Given the description of an element on the screen output the (x, y) to click on. 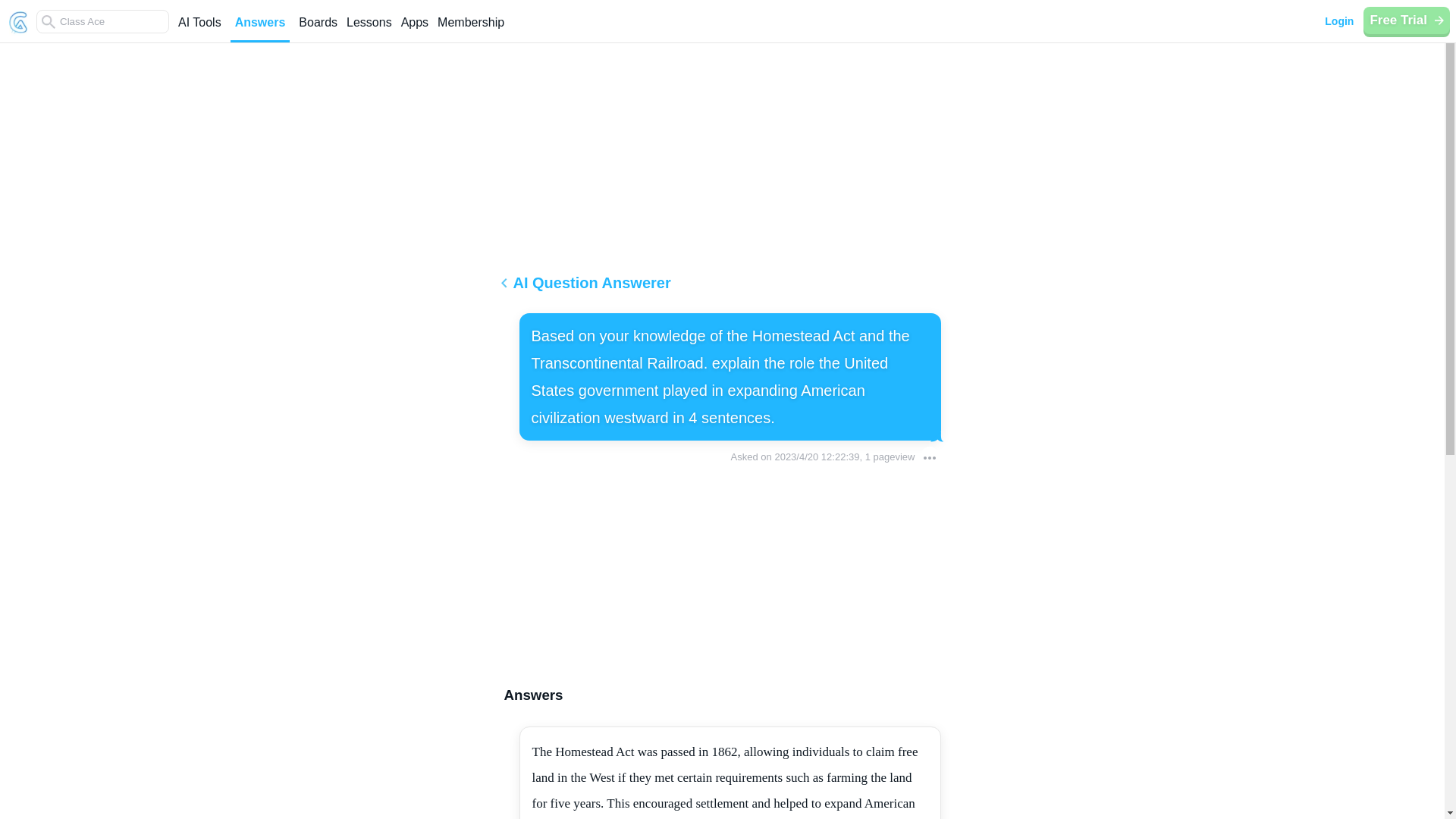
Boards (317, 28)
Login (1338, 21)
AI Question Answerer (722, 288)
AI Tools (199, 28)
Lessons (368, 28)
Answers (259, 28)
Free Trial (1406, 20)
Membership (470, 28)
Apps (414, 28)
